Given the description of an element on the screen output the (x, y) to click on. 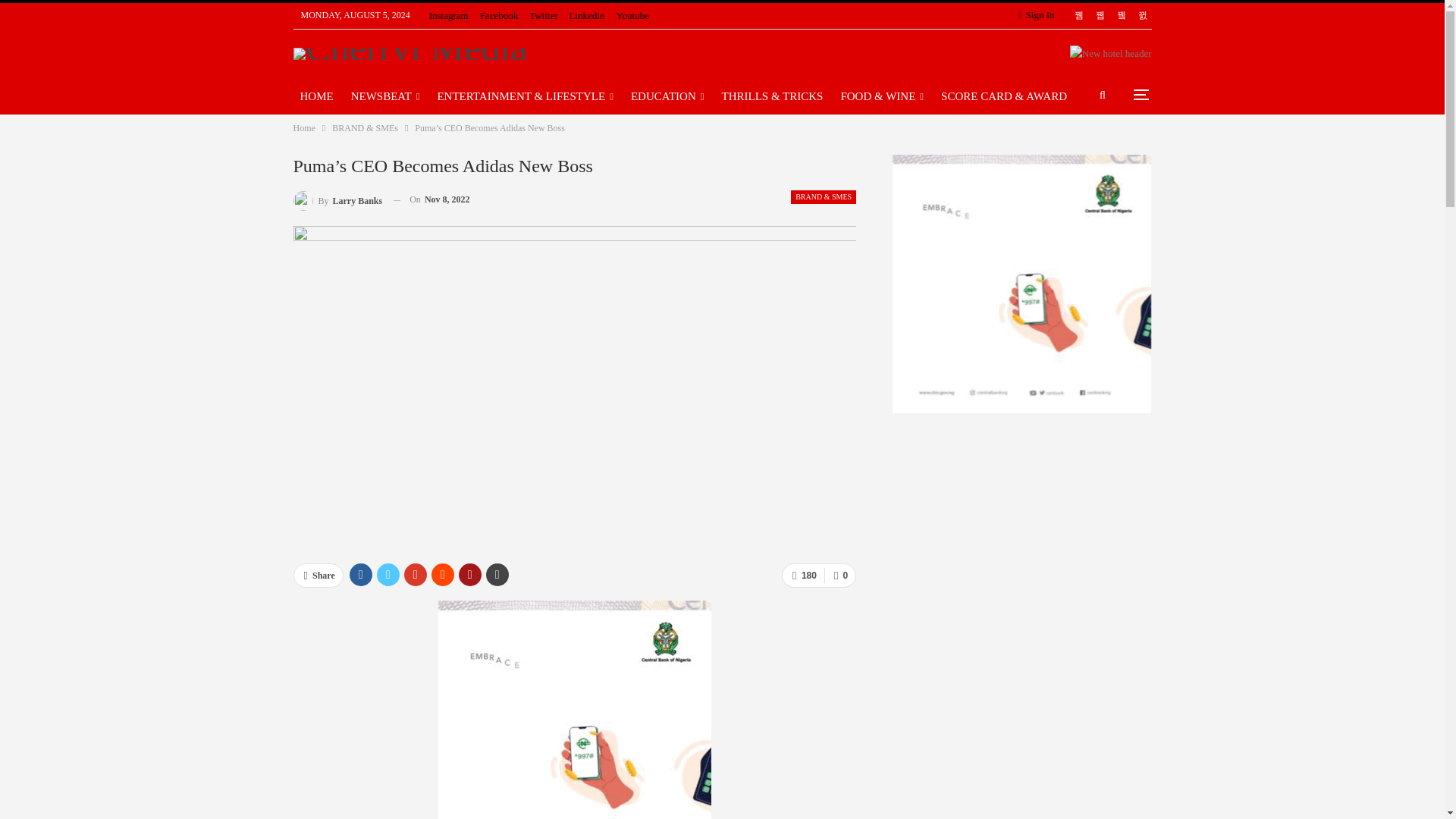
Linkedin (587, 15)
HOME (315, 95)
Browse Author Articles (336, 199)
NEWSBEAT (384, 95)
Instagram (448, 15)
EDUCATION (667, 95)
Sign In (1039, 14)
Youtube (631, 15)
Twitter (543, 15)
Facebook (499, 15)
